Given the description of an element on the screen output the (x, y) to click on. 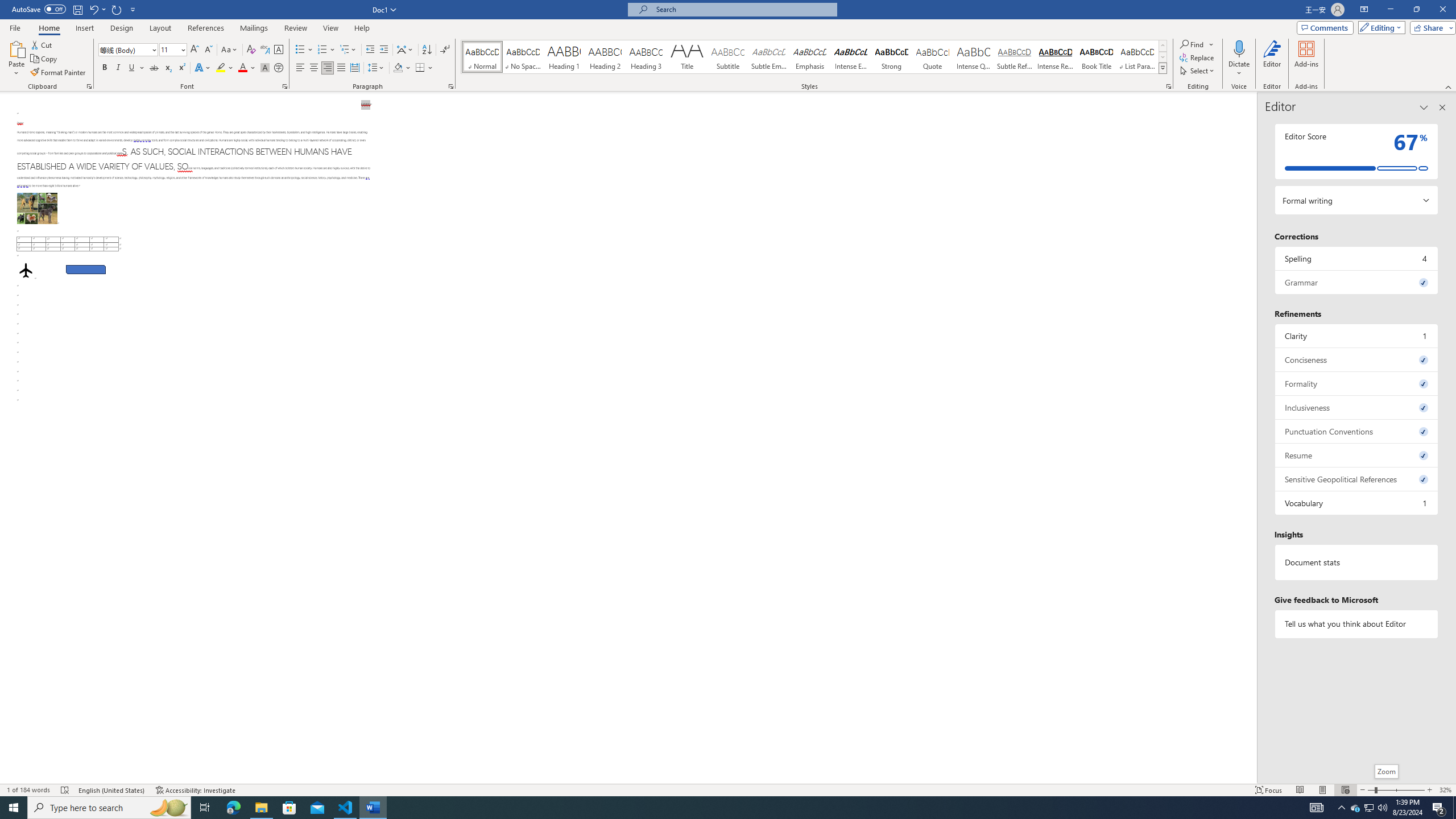
Resume, 0 issues. Press space or enter to review items. (1356, 454)
Rectangle: Diagonal Corners Snipped 2 (85, 269)
Formality, 0 issues. Press space or enter to review items. (1356, 383)
Repeat Paragraph Alignment (117, 9)
Book Title (1095, 56)
